Given the description of an element on the screen output the (x, y) to click on. 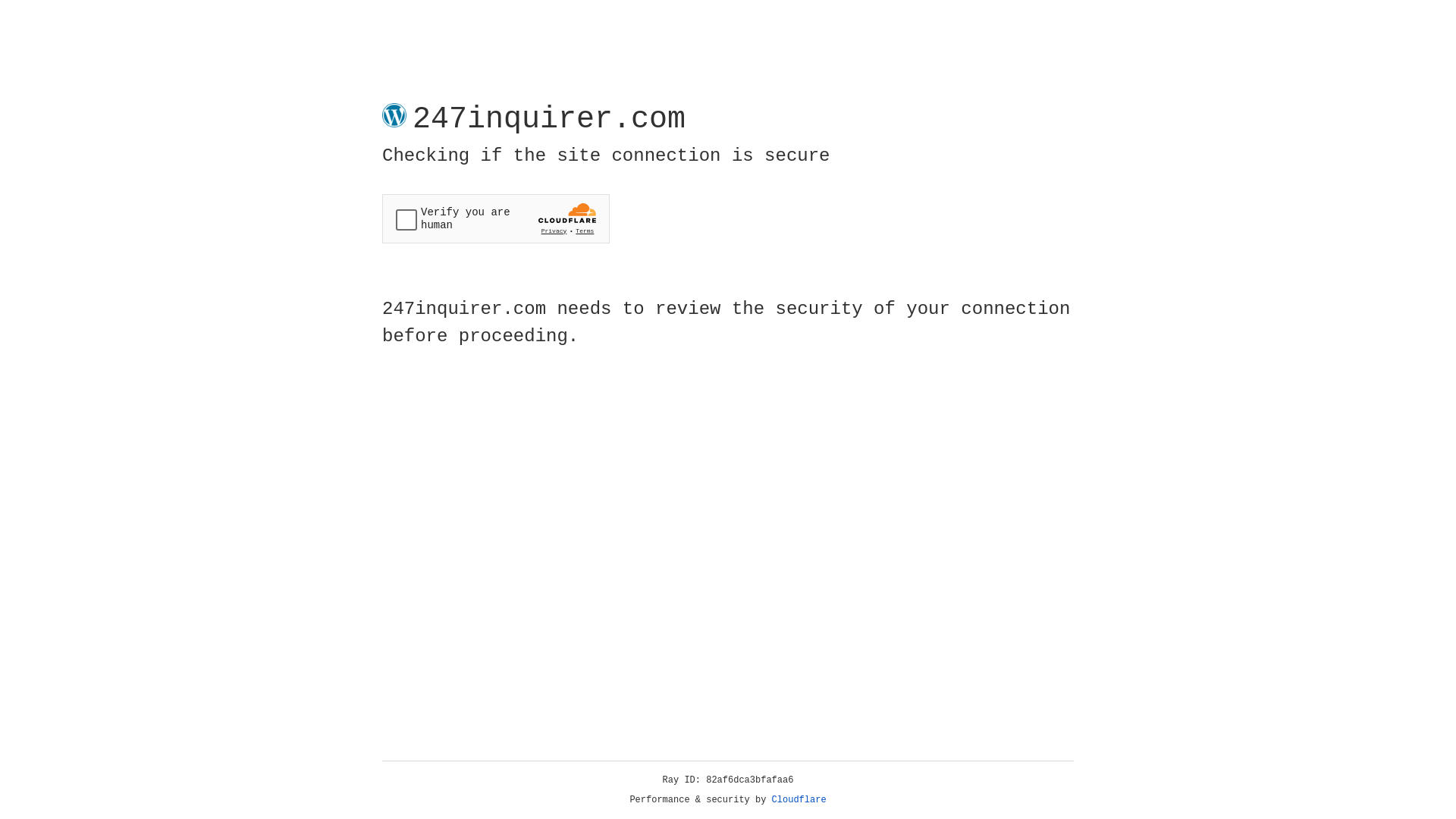
Cloudflare Element type: text (798, 799)
Widget containing a Cloudflare security challenge Element type: hover (495, 218)
